Given the description of an element on the screen output the (x, y) to click on. 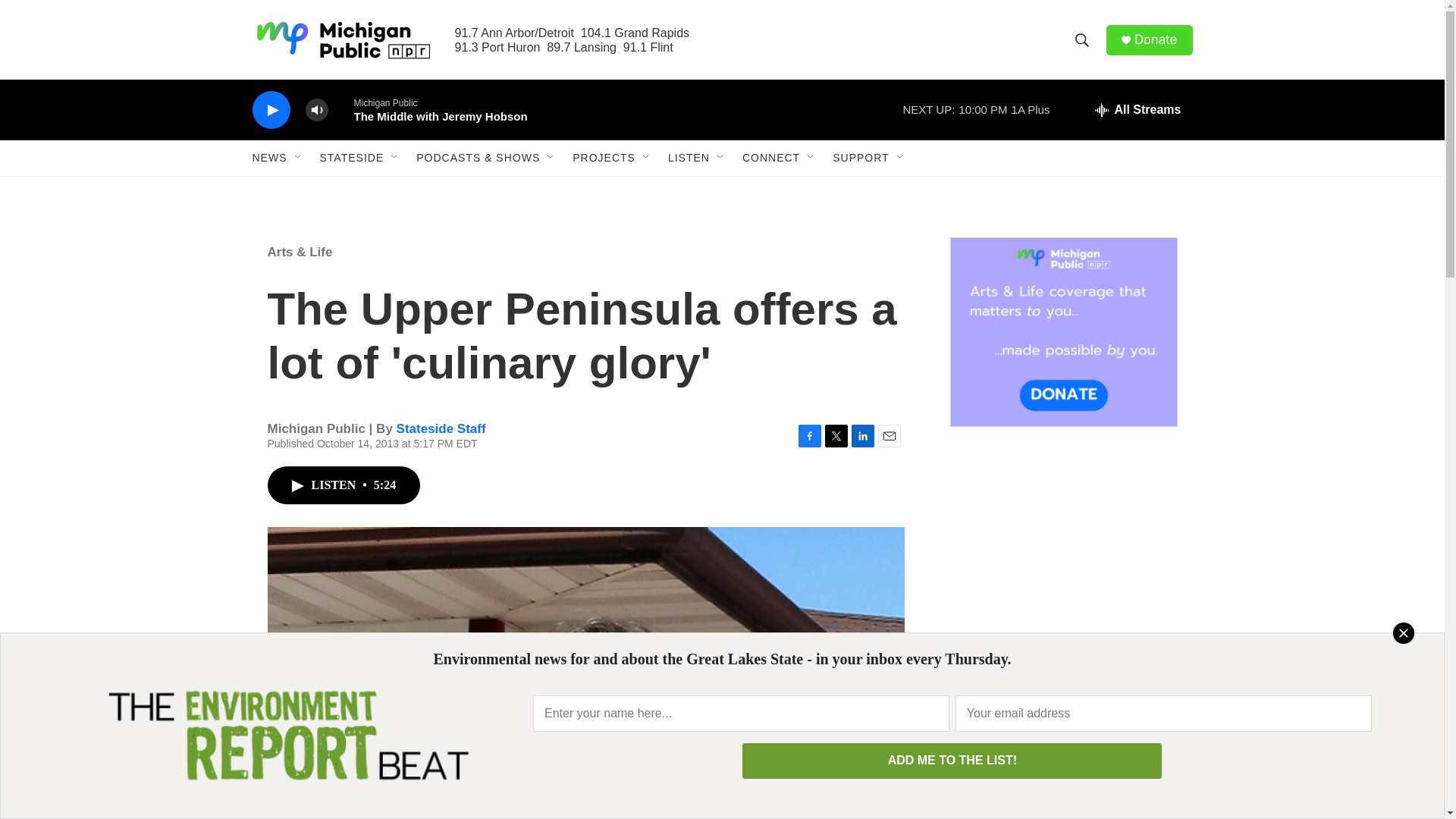
3rd party ad content (1062, 570)
Close (1403, 632)
ADD ME TO THE LIST! (951, 760)
